Given the description of an element on the screen output the (x, y) to click on. 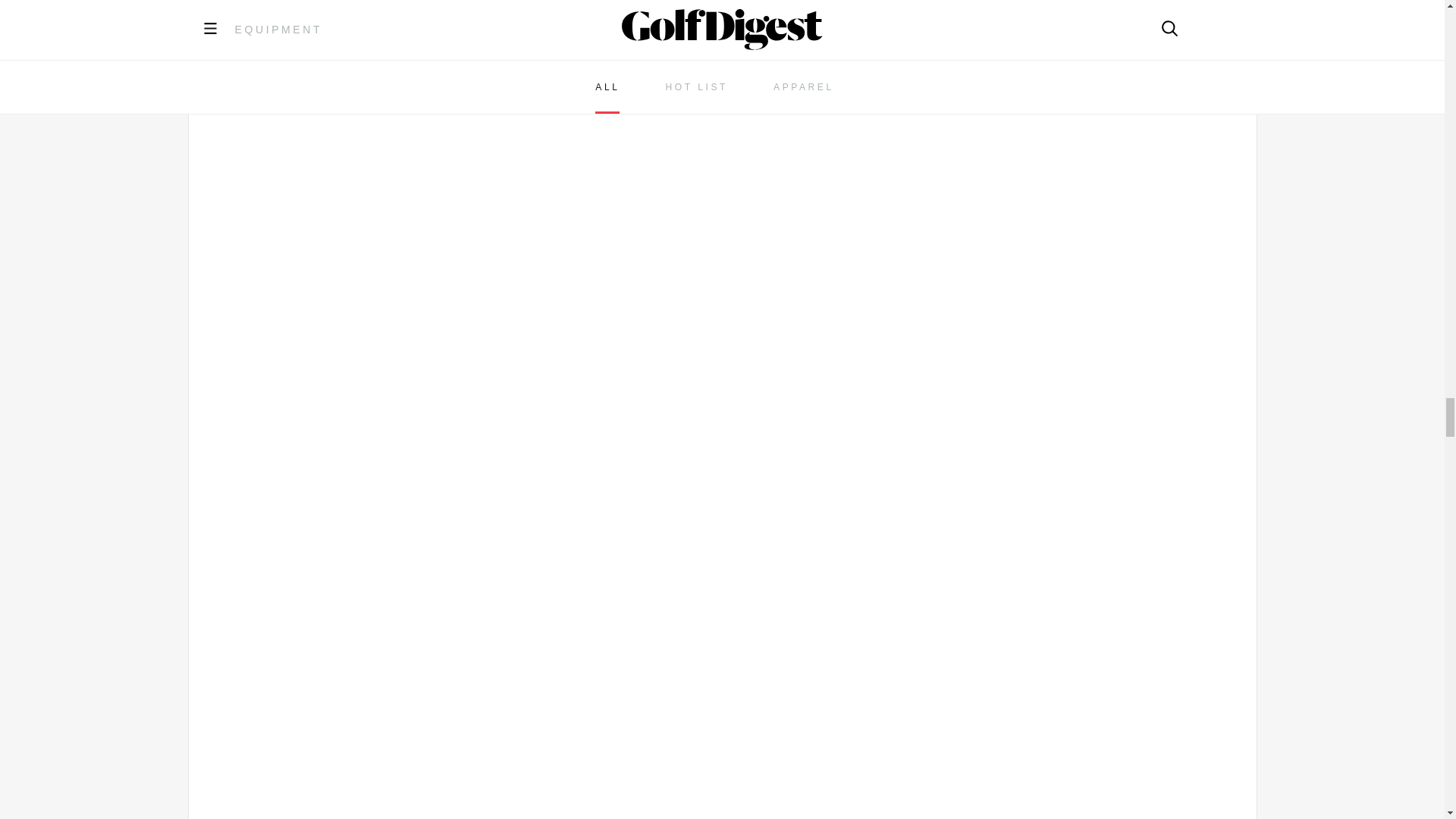
Ping i200 (721, 21)
